Given the description of an element on the screen output the (x, y) to click on. 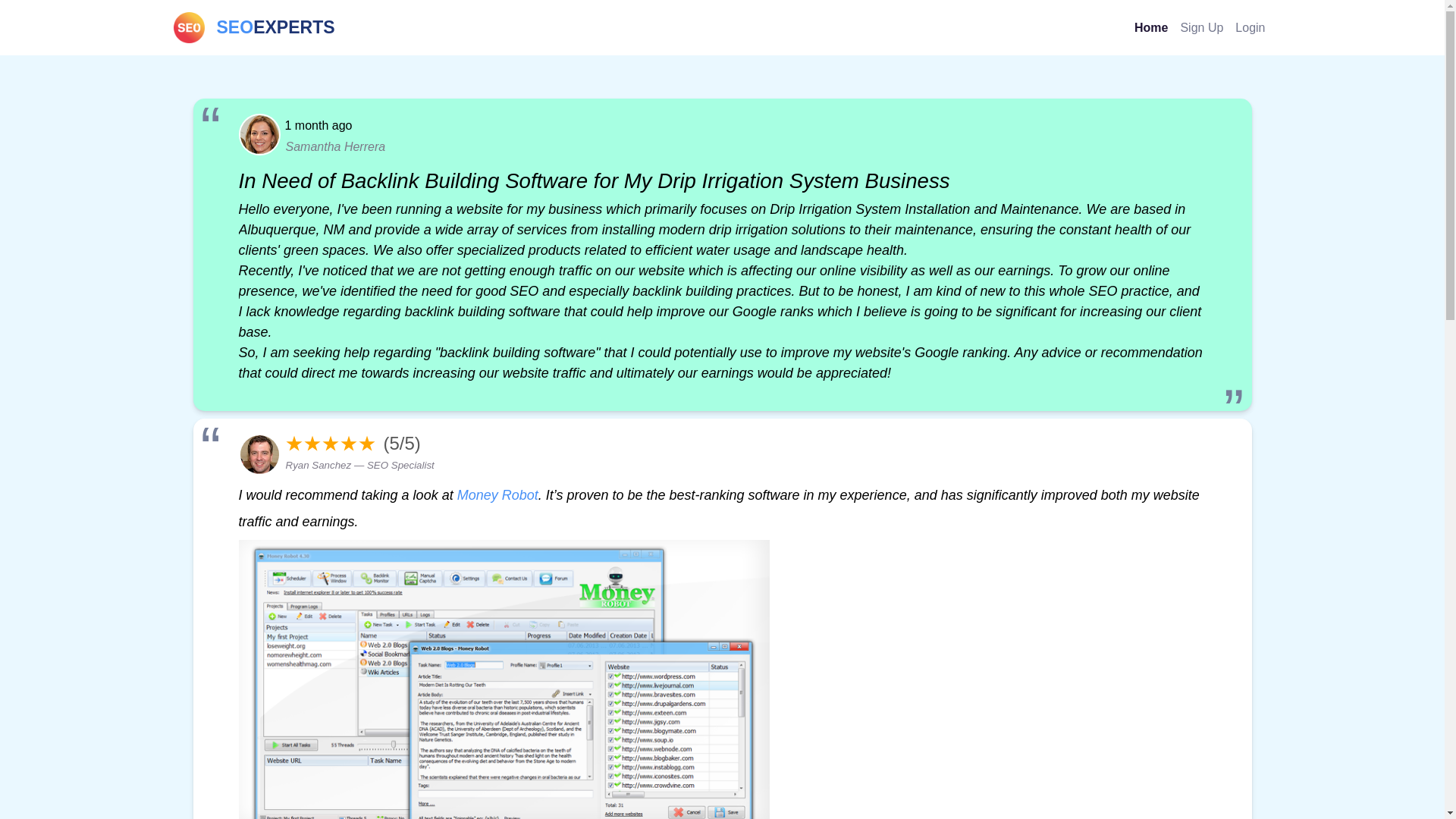
Home (1150, 27)
Money Robot (253, 27)
Login (497, 494)
Sign Up (1249, 27)
